Given the description of an element on the screen output the (x, y) to click on. 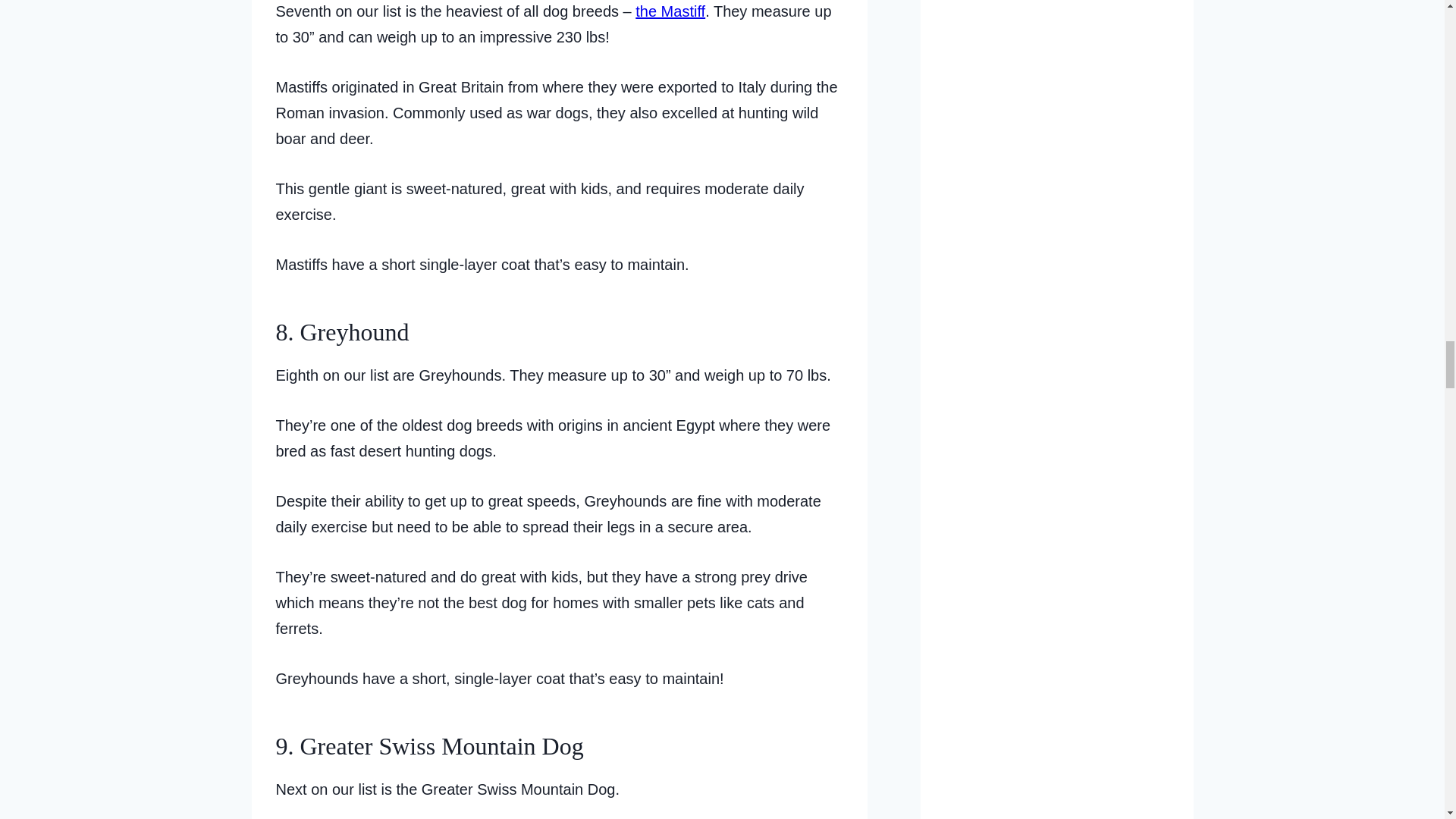
the Mastiff (669, 11)
